Given the description of an element on the screen output the (x, y) to click on. 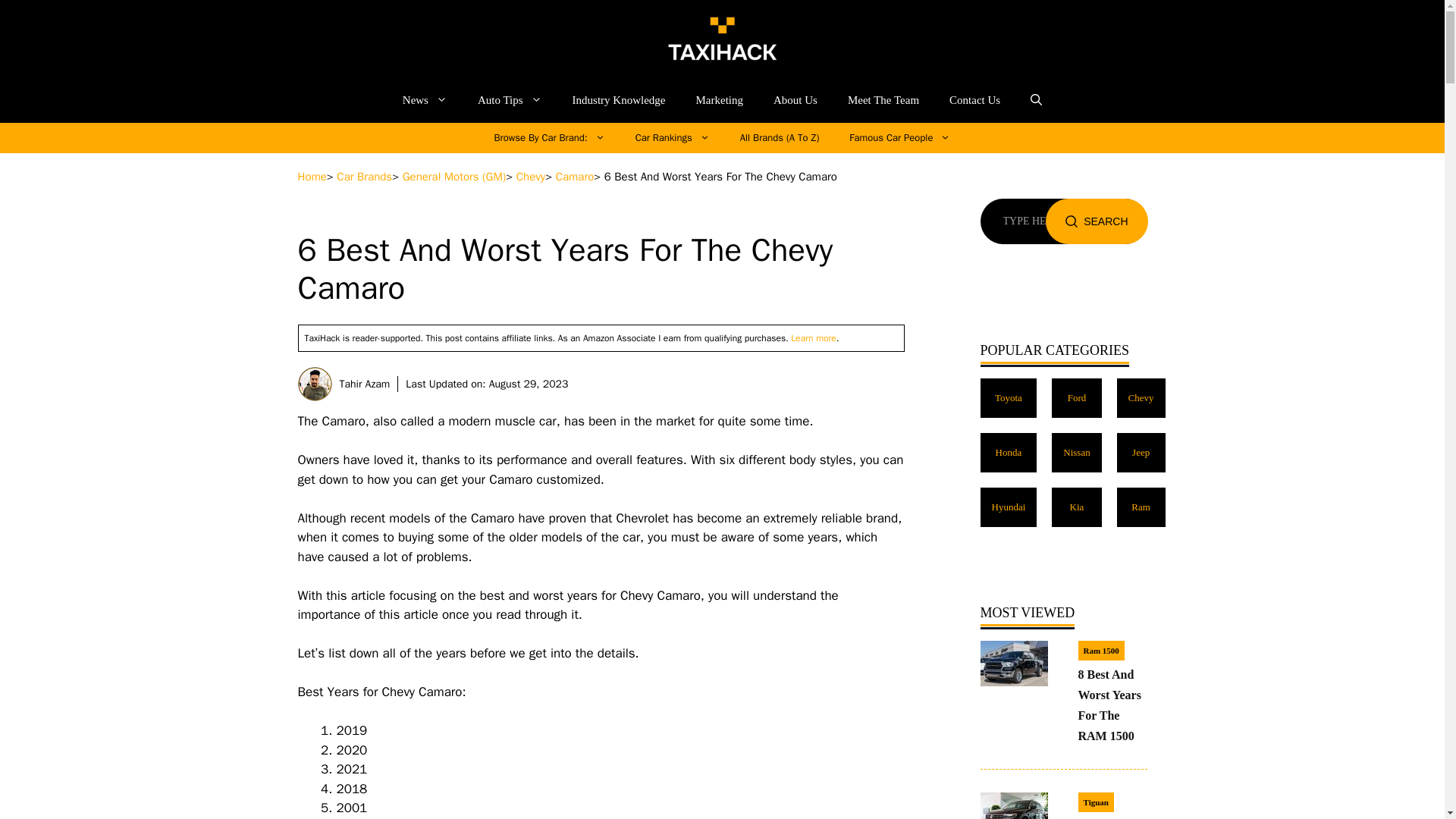
Go to the Car Brands Category archives. (363, 176)
Go to Home. (311, 176)
Go to the Chevy Category archives. (530, 176)
Go to the Camaro Category archives. (575, 176)
